Given the description of an element on the screen output the (x, y) to click on. 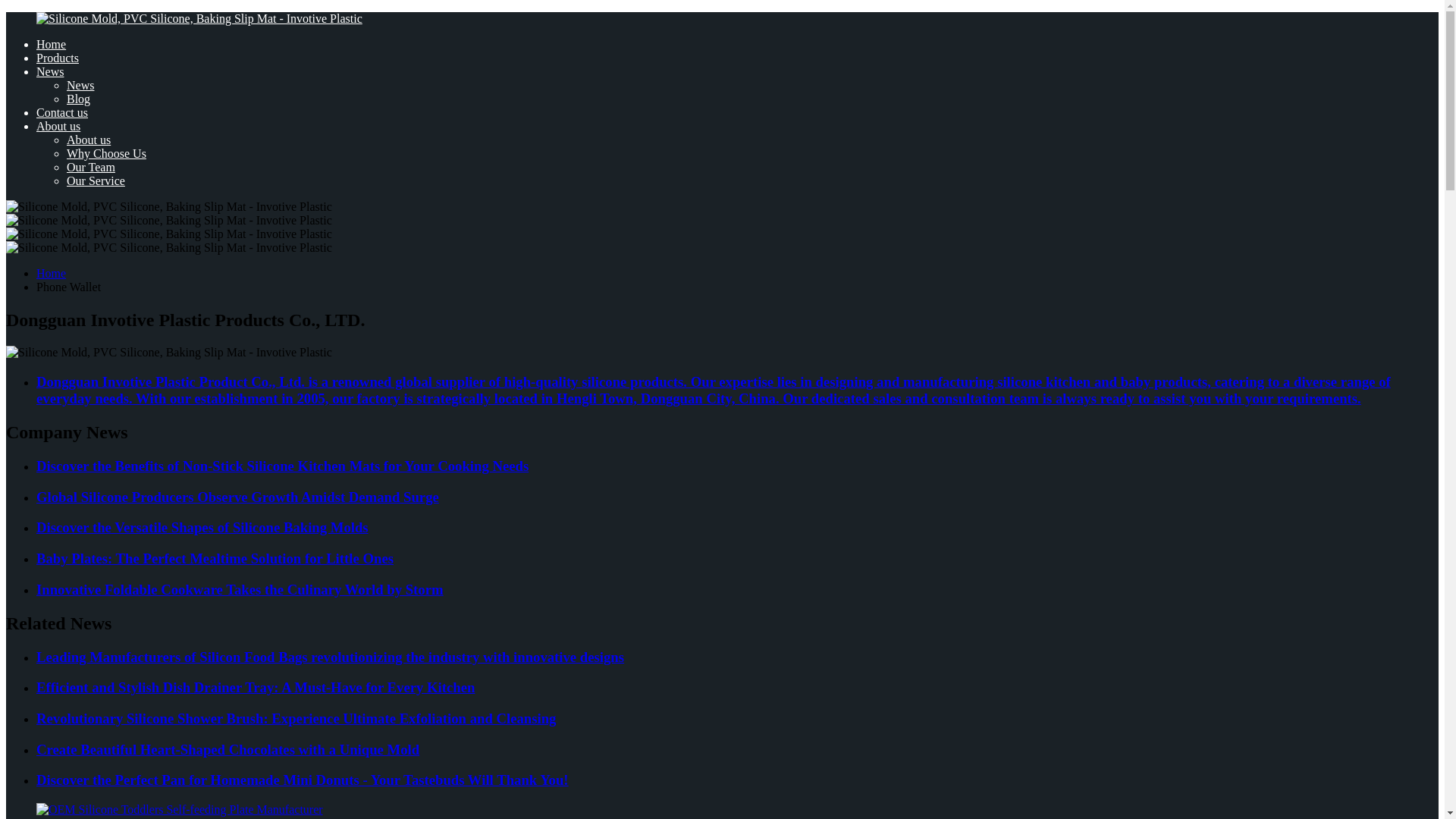
Products (57, 57)
Our Service (95, 180)
About us (88, 139)
Contact us (61, 112)
Blog (78, 98)
About us (58, 125)
Home (50, 273)
News (80, 84)
Our Team (90, 166)
Home (50, 43)
